Given the description of an element on the screen output the (x, y) to click on. 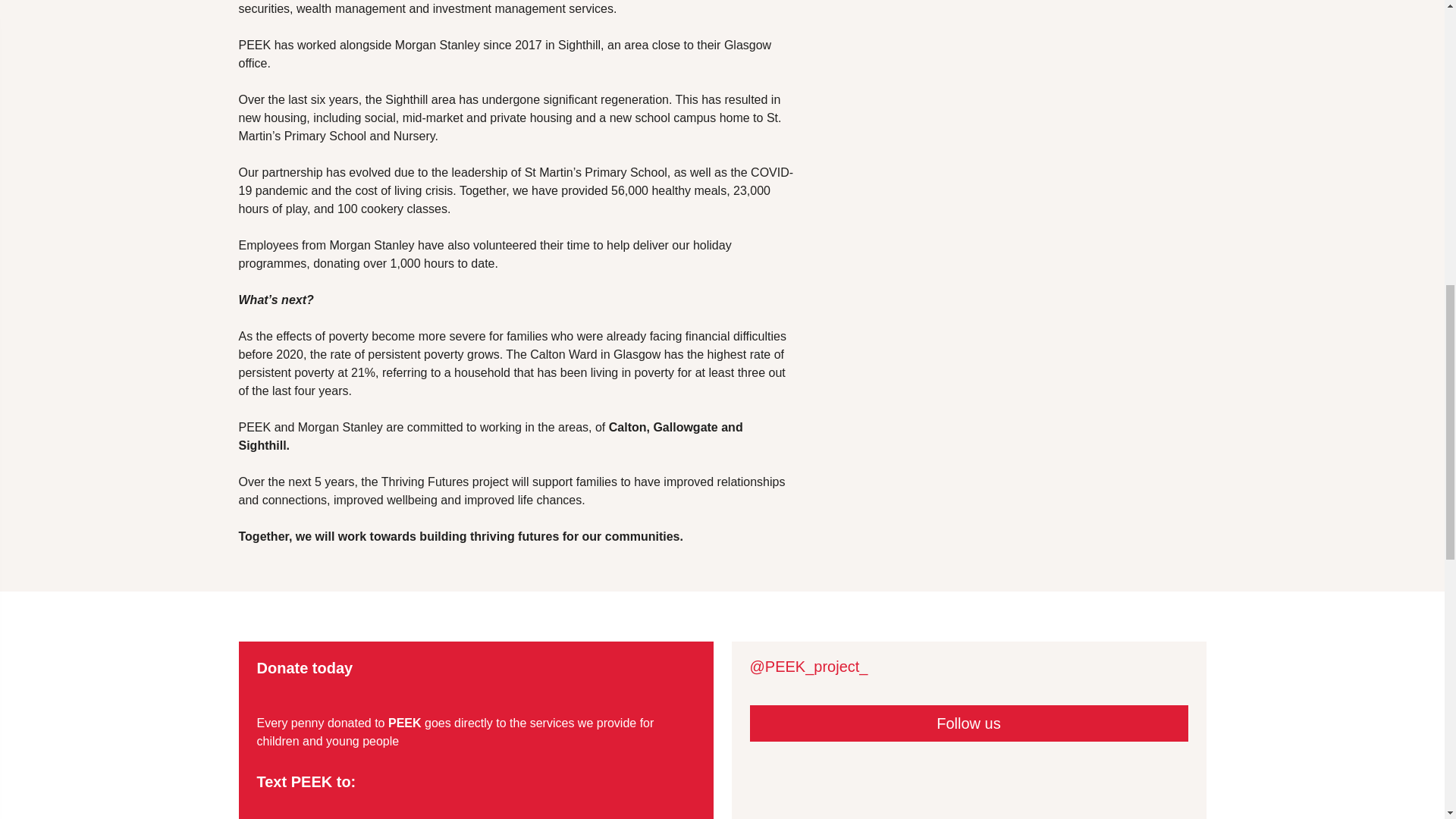
Follow PEEK Project on Twitter (968, 723)
PEEK Project on Twitter (808, 683)
